Given the description of an element on the screen output the (x, y) to click on. 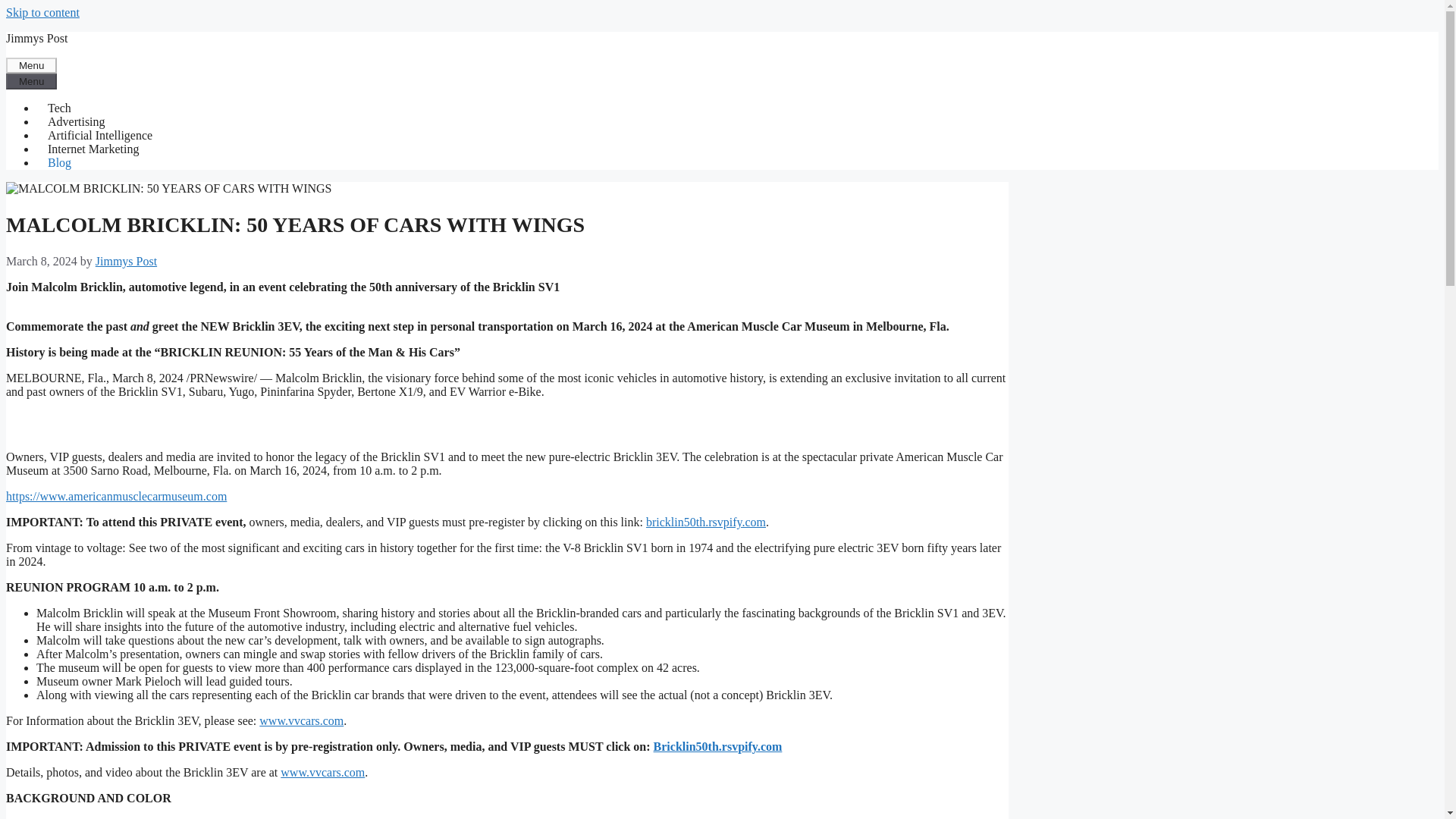
Artificial Intelligence (99, 134)
Advertising (76, 121)
Bricklin50th.rsvpify.com (718, 746)
bricklin50th.rsvpify.com (705, 521)
www.vvcars.com (323, 771)
Menu (30, 81)
www.vvcars.com (301, 720)
View all posts by Jimmys Post (126, 260)
Internet Marketing (92, 148)
Skip to content (42, 11)
Tech (59, 107)
Menu (30, 65)
Jimmys Post (35, 38)
Blog (59, 162)
Skip to content (42, 11)
